Given the description of an element on the screen output the (x, y) to click on. 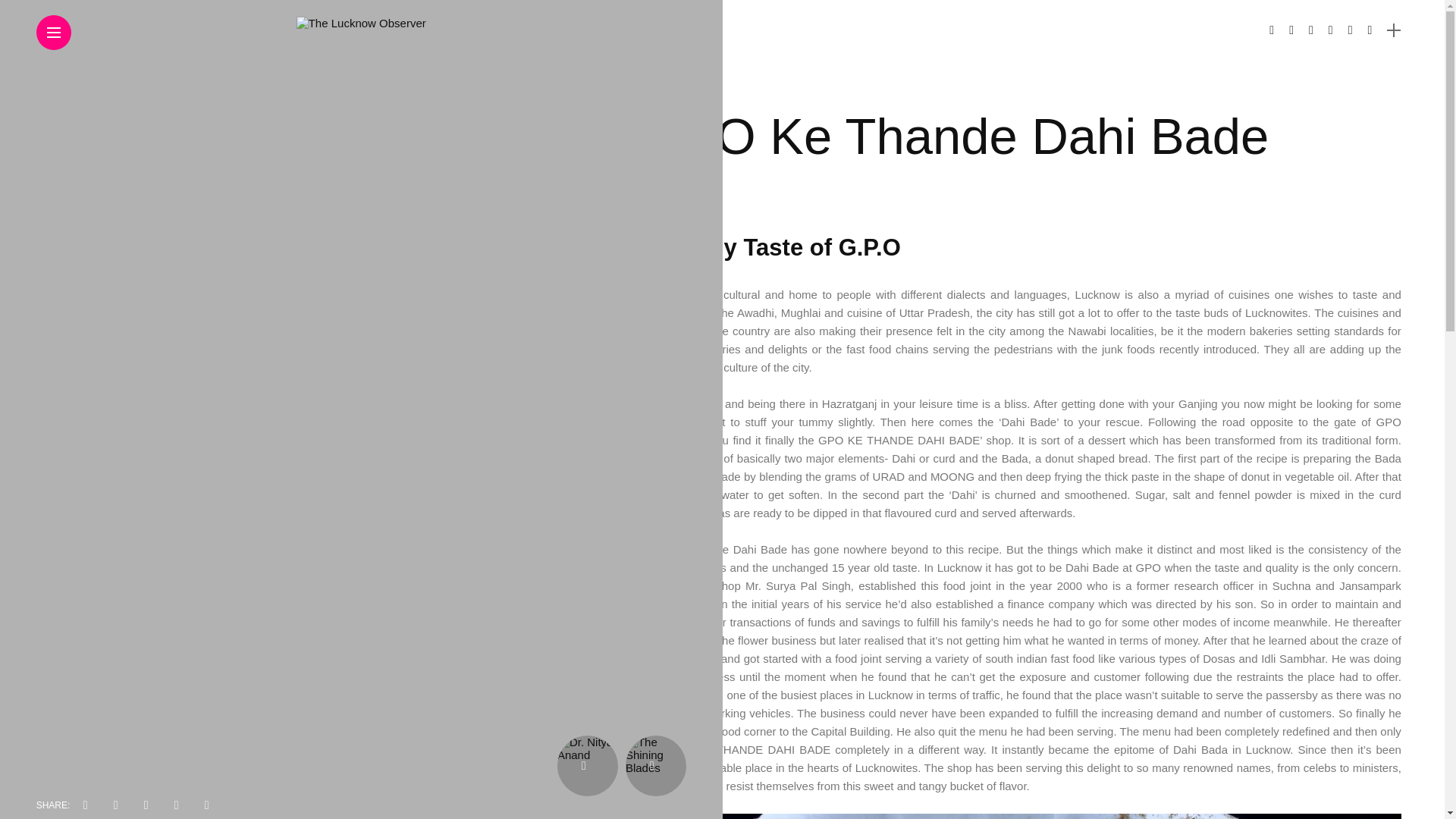
facebook (85, 805)
twitter (116, 805)
pinterest (176, 805)
